Given the description of an element on the screen output the (x, y) to click on. 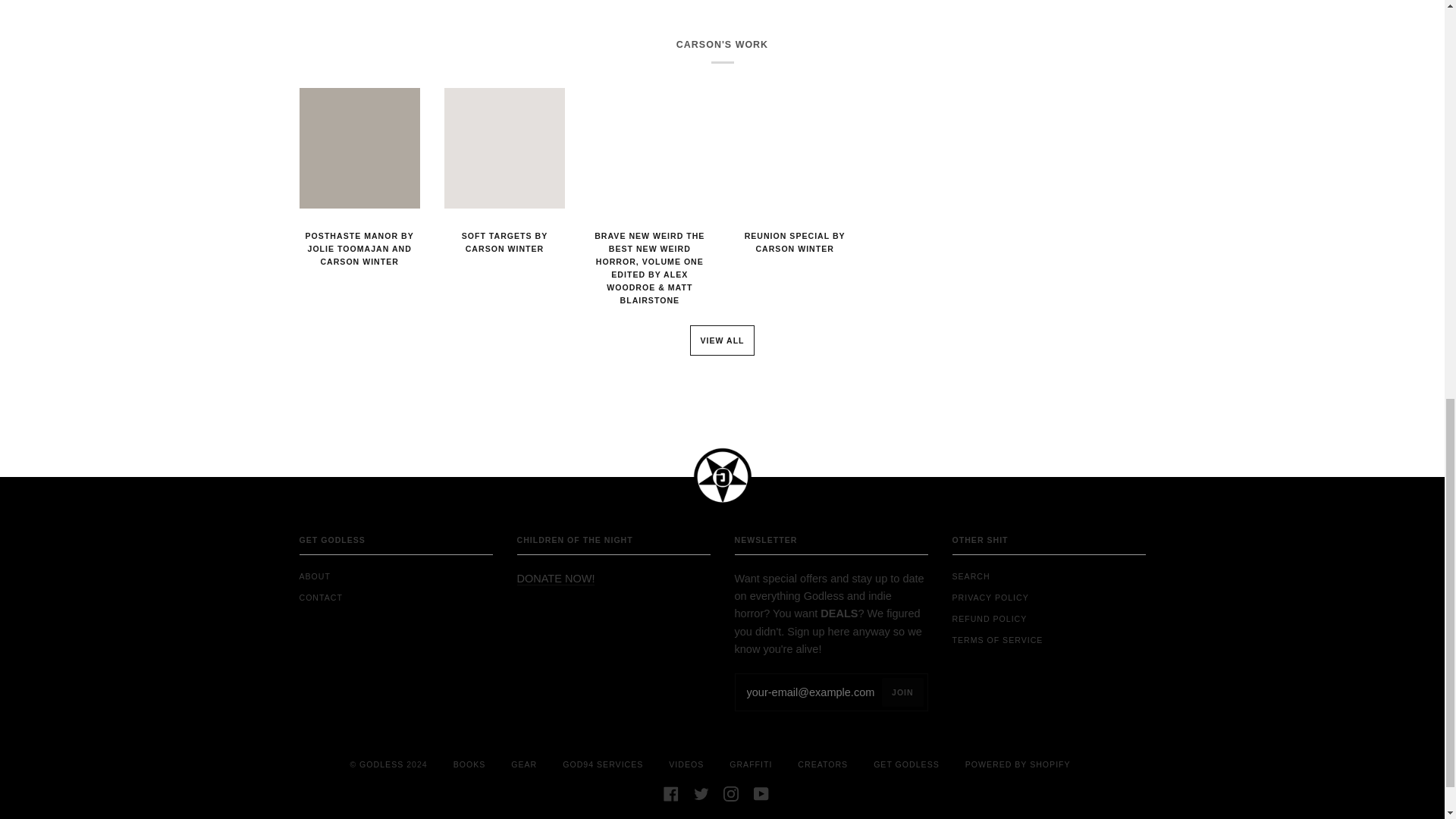
Instagram (730, 792)
Twitter (701, 792)
YouTube (761, 792)
Facebook (670, 792)
